Given the description of an element on the screen output the (x, y) to click on. 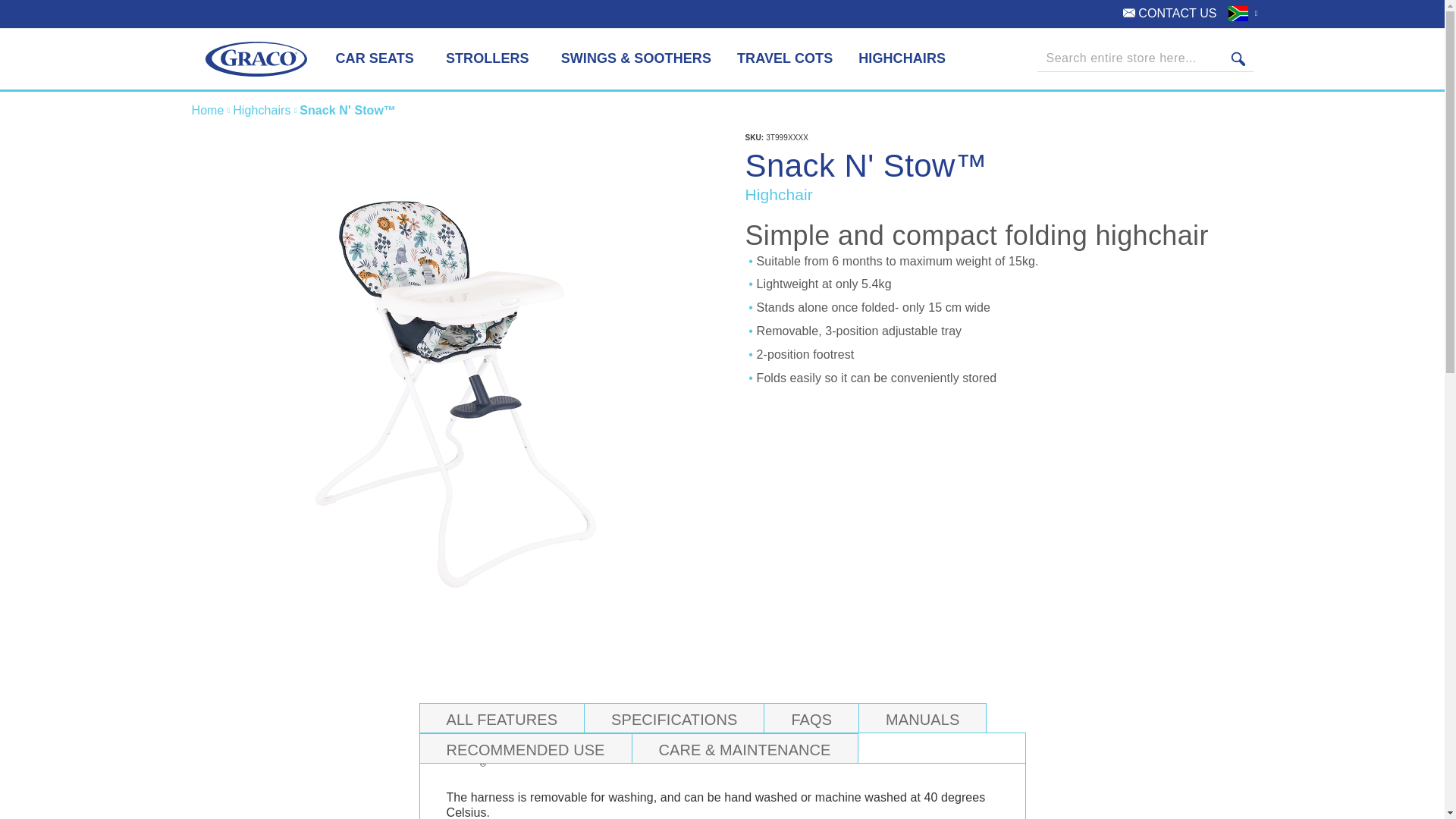
STROLLERS (490, 58)
CONTACT US (1169, 13)
CAR SEATS (377, 58)
TRAVEL COTS (784, 58)
Highchairs (263, 110)
HIGHCHAIRS (901, 58)
Search (1237, 59)
Go to Home Page (208, 110)
Home (208, 110)
